Given the description of an element on the screen output the (x, y) to click on. 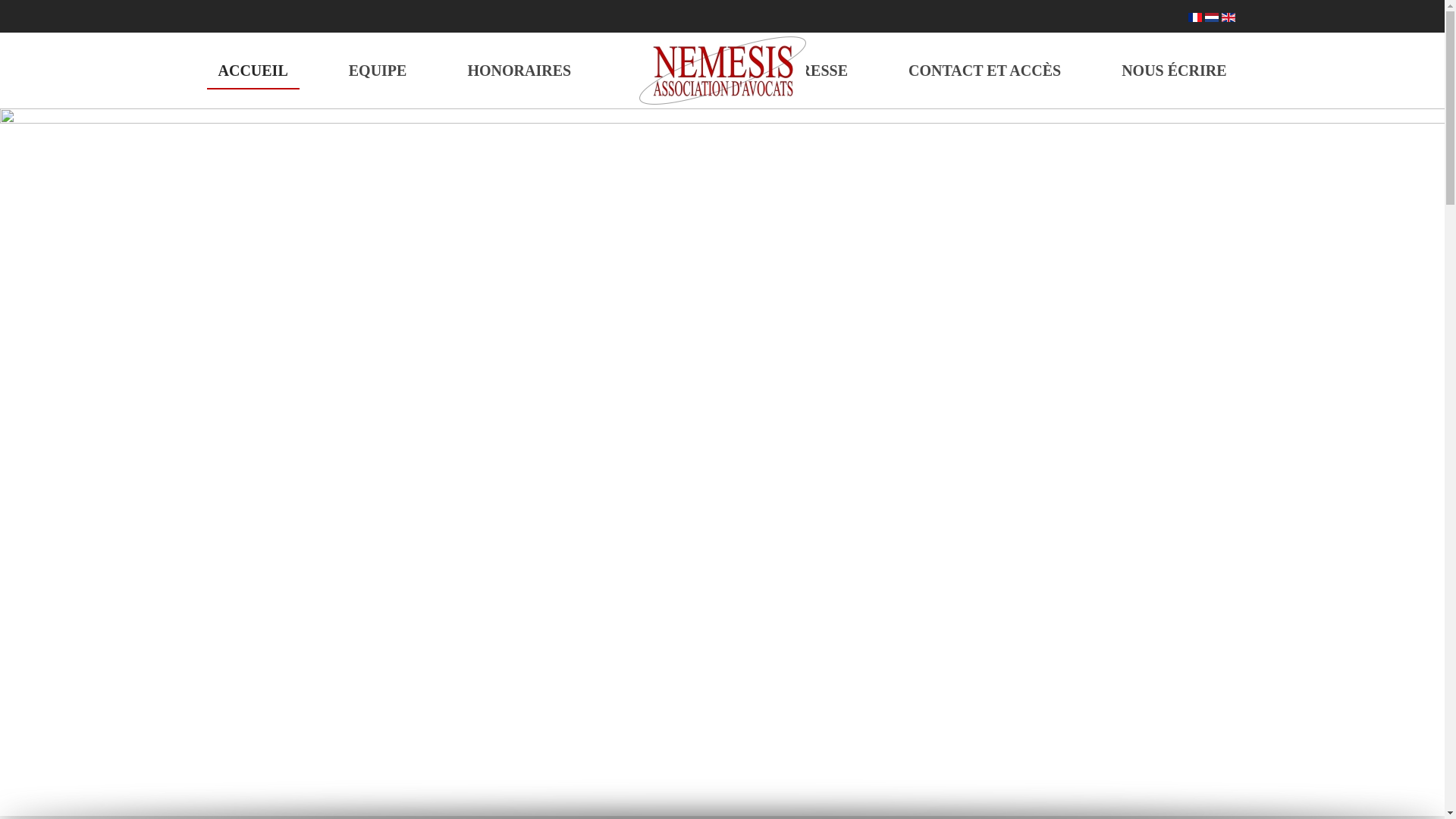
HONORAIRES Element type: text (518, 69)
ARTICLES DE PRESSE Element type: text (766, 69)
EQUIPE Element type: text (377, 69)
English (United Kingdom) Element type: hover (1227, 16)
Nederlands (nl-NL) Element type: hover (1210, 16)
ACCUEIL Element type: text (252, 69)
